Given the description of an element on the screen output the (x, y) to click on. 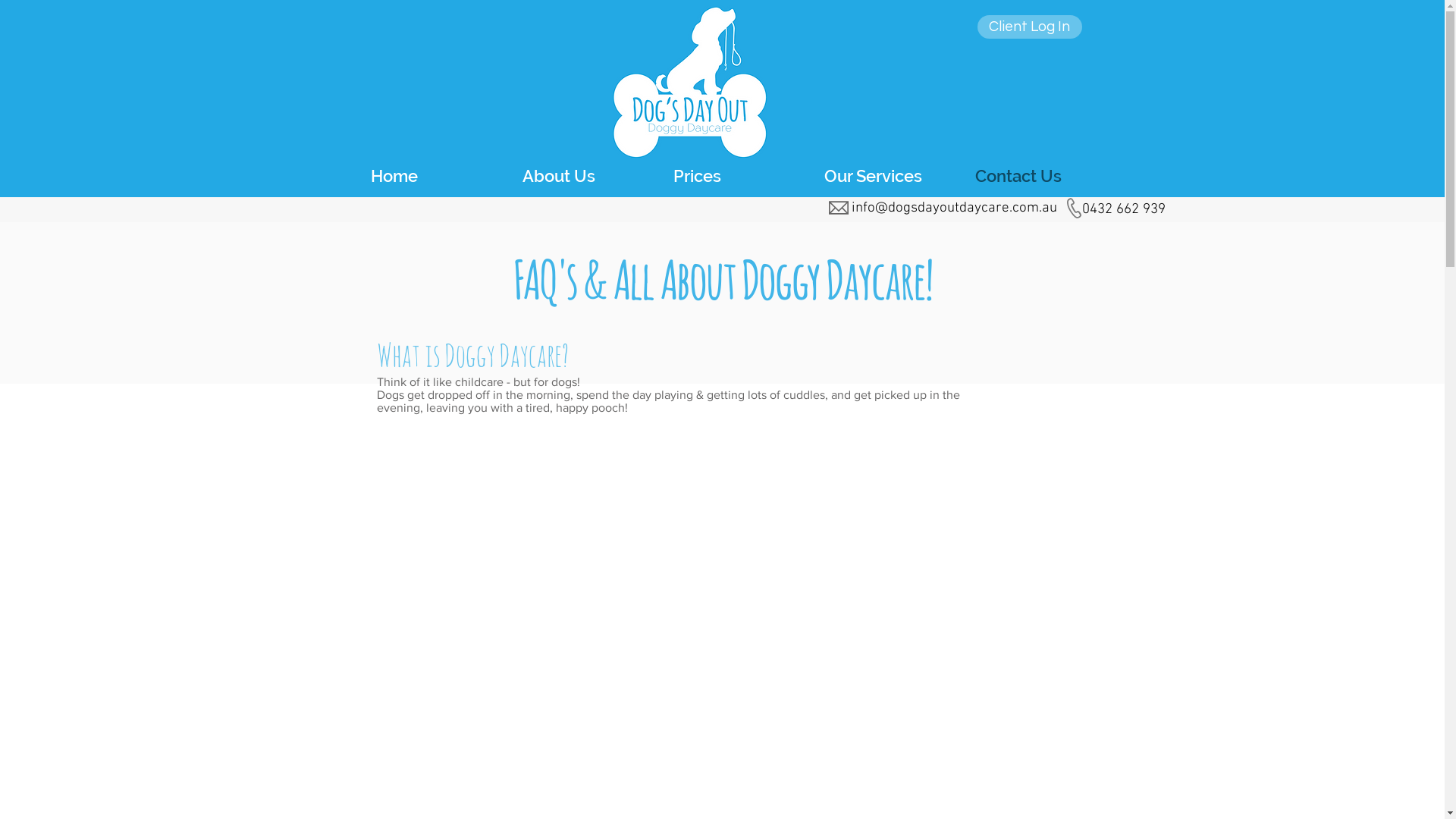
info@dogsdayoutdaycare.com.au Element type: text (953, 207)
Home Element type: text (438, 176)
Contact Us Element type: text (1042, 176)
Client Log In Element type: text (1028, 26)
About Us Element type: text (589, 176)
Prices Element type: text (740, 176)
Our Services Element type: text (890, 176)
